Given the description of an element on the screen output the (x, y) to click on. 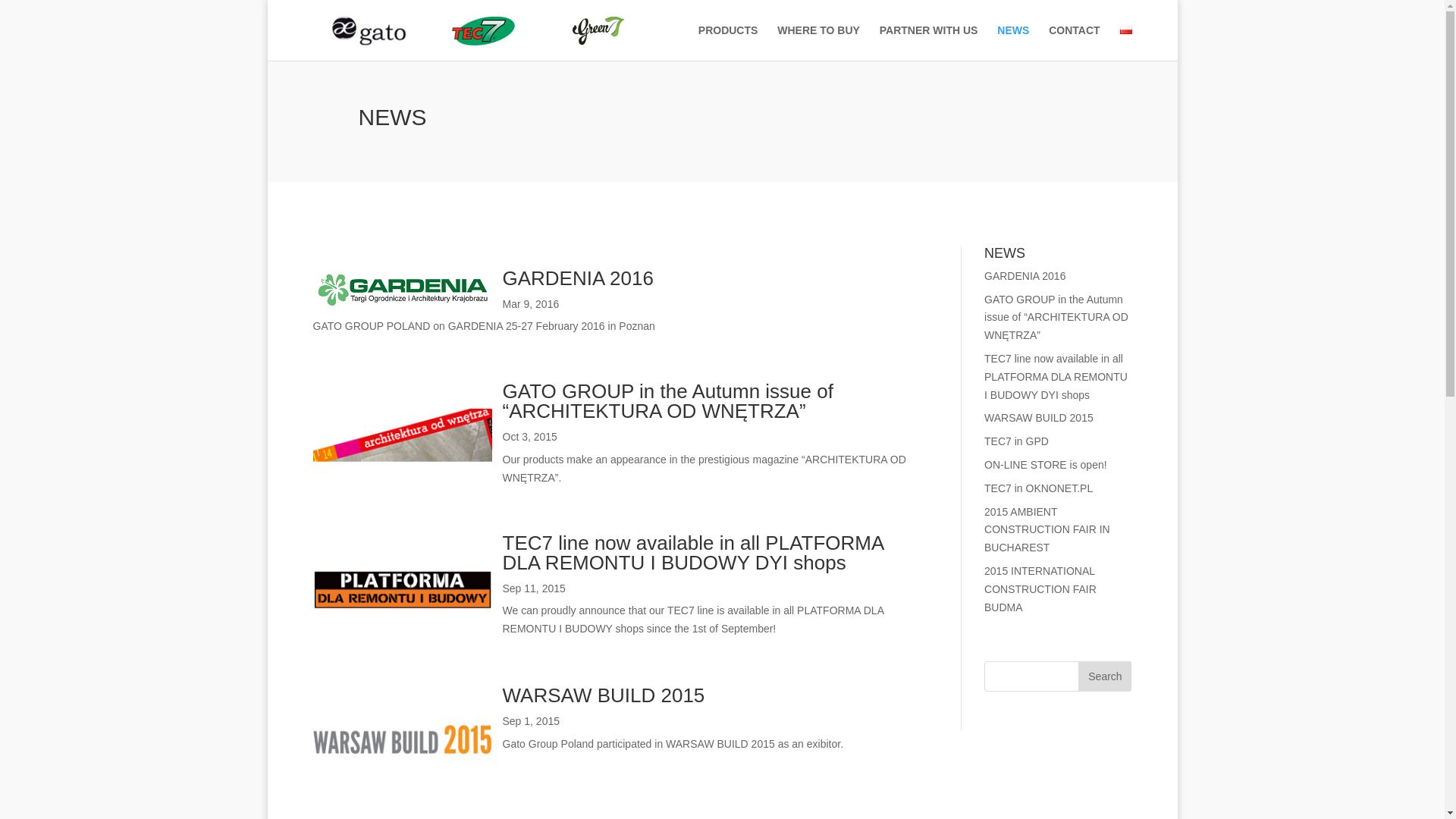
PARTNER WITH US (928, 42)
Search (1104, 675)
TEC7 in OKNONET.PL (1038, 488)
WHERE TO BUY (818, 42)
CONTACT (1073, 42)
GARDENIA 2016 (577, 277)
Polski (1125, 29)
NEWS (1013, 42)
GARDENIA 2016 (1024, 275)
WARSAW BUILD 2015 (603, 694)
PRODUCTS (728, 42)
ON-LINE STORE is open! (1045, 464)
WARSAW BUILD 2015 (1038, 417)
